Given the description of an element on the screen output the (x, y) to click on. 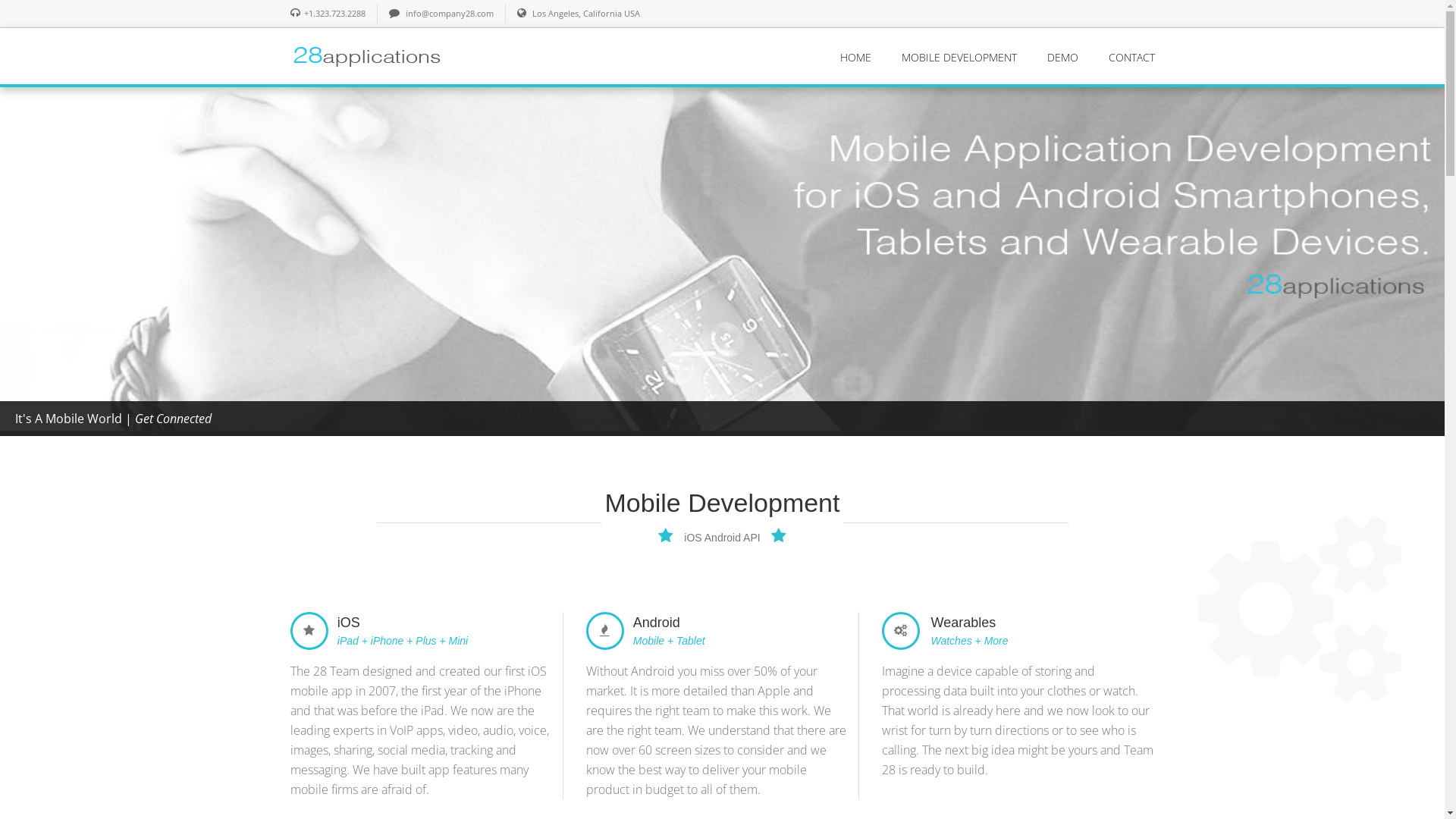
info@company28.com Element type: text (448, 12)
DEMO Element type: text (1061, 57)
CONTACT Element type: text (1131, 57)
MOBILE DEVELOPMENT Element type: text (958, 57)
HOME Element type: text (855, 57)
Return Home Element type: hover (365, 54)
